Given the description of an element on the screen output the (x, y) to click on. 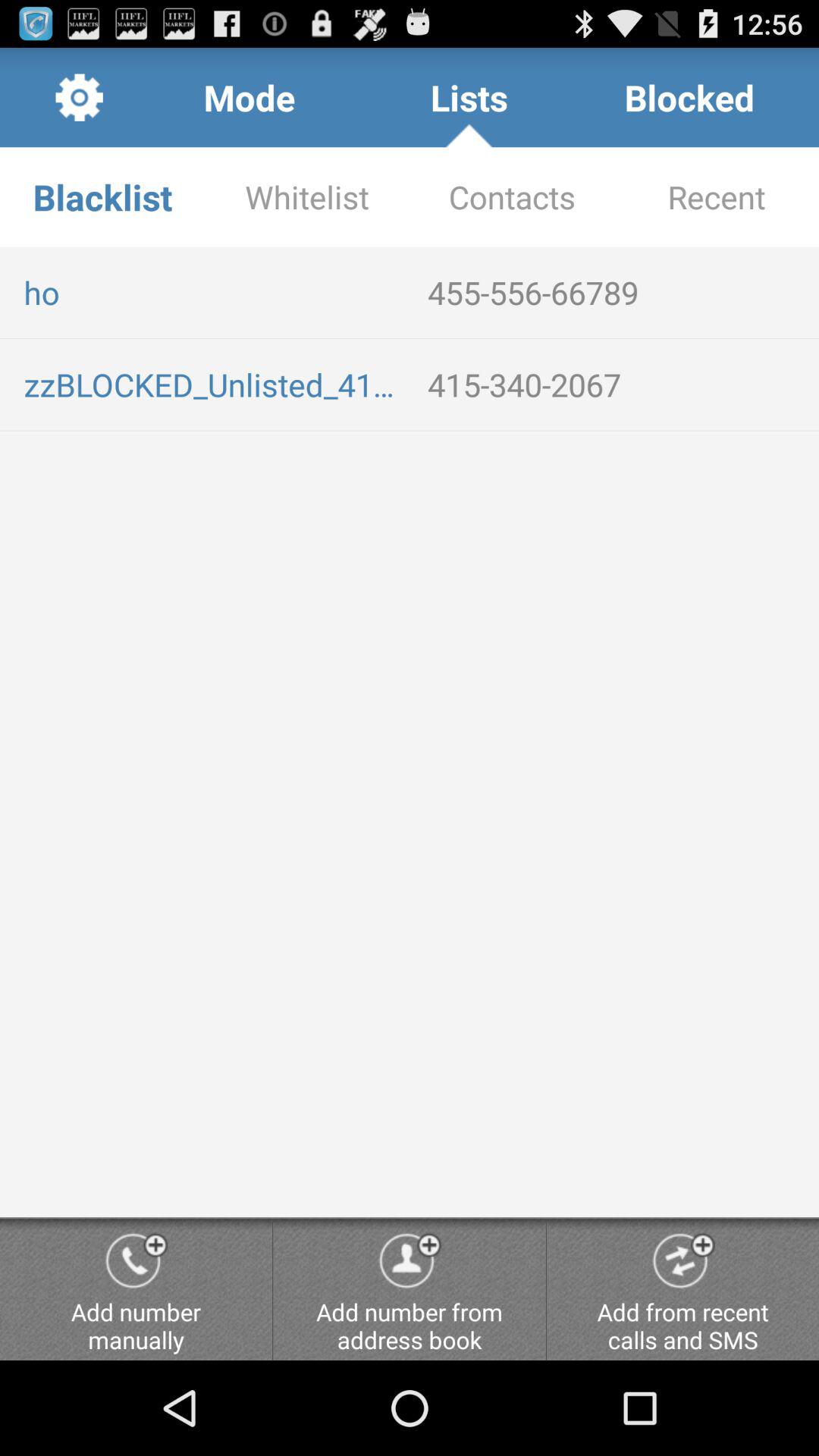
choose item above the blacklist icon (249, 97)
